Given the description of an element on the screen output the (x, y) to click on. 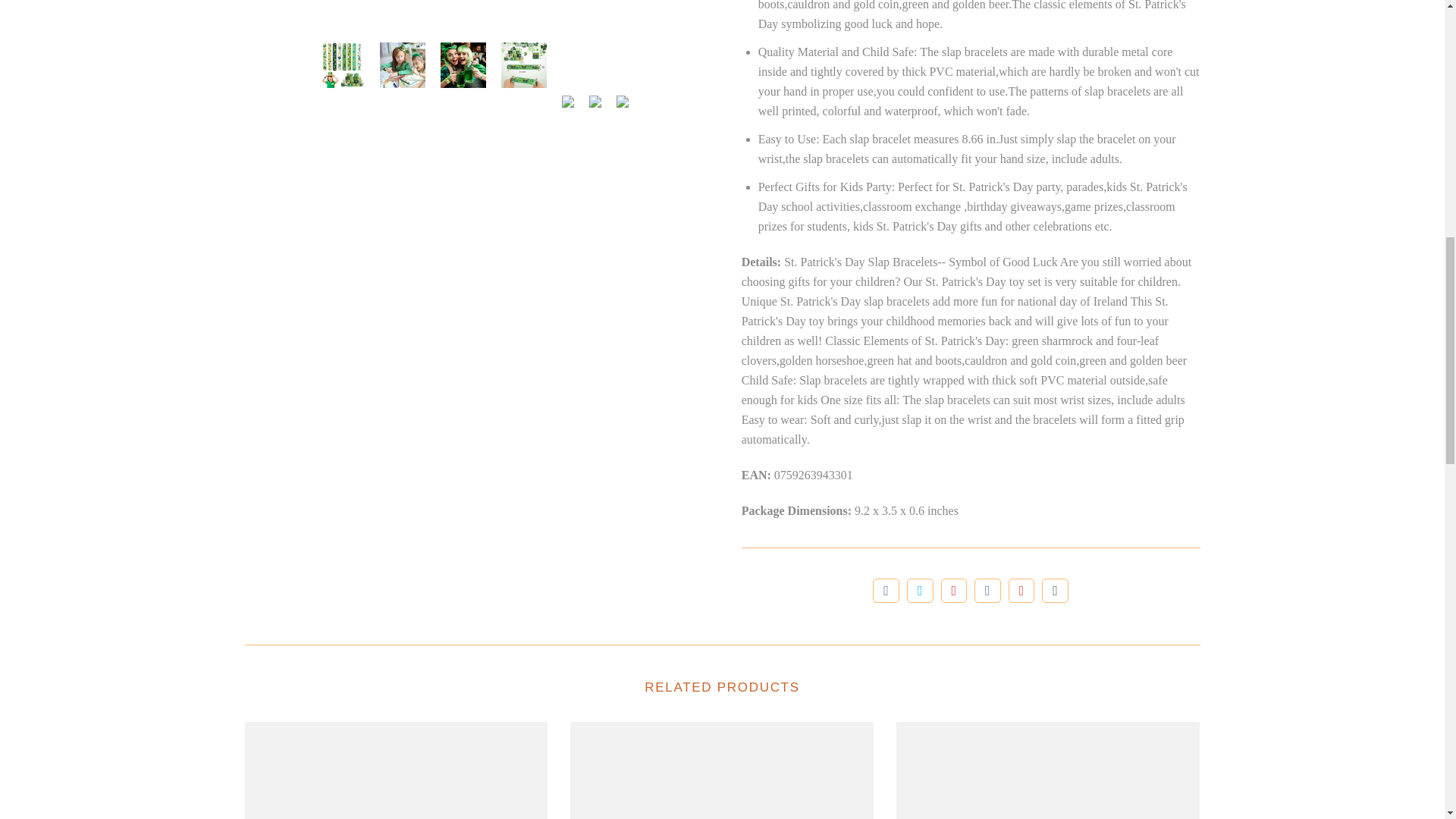
Like (885, 590)
Tweet (920, 590)
Pin it (954, 590)
Fancy (987, 590)
Email (1055, 590)
